Given the description of an element on the screen output the (x, y) to click on. 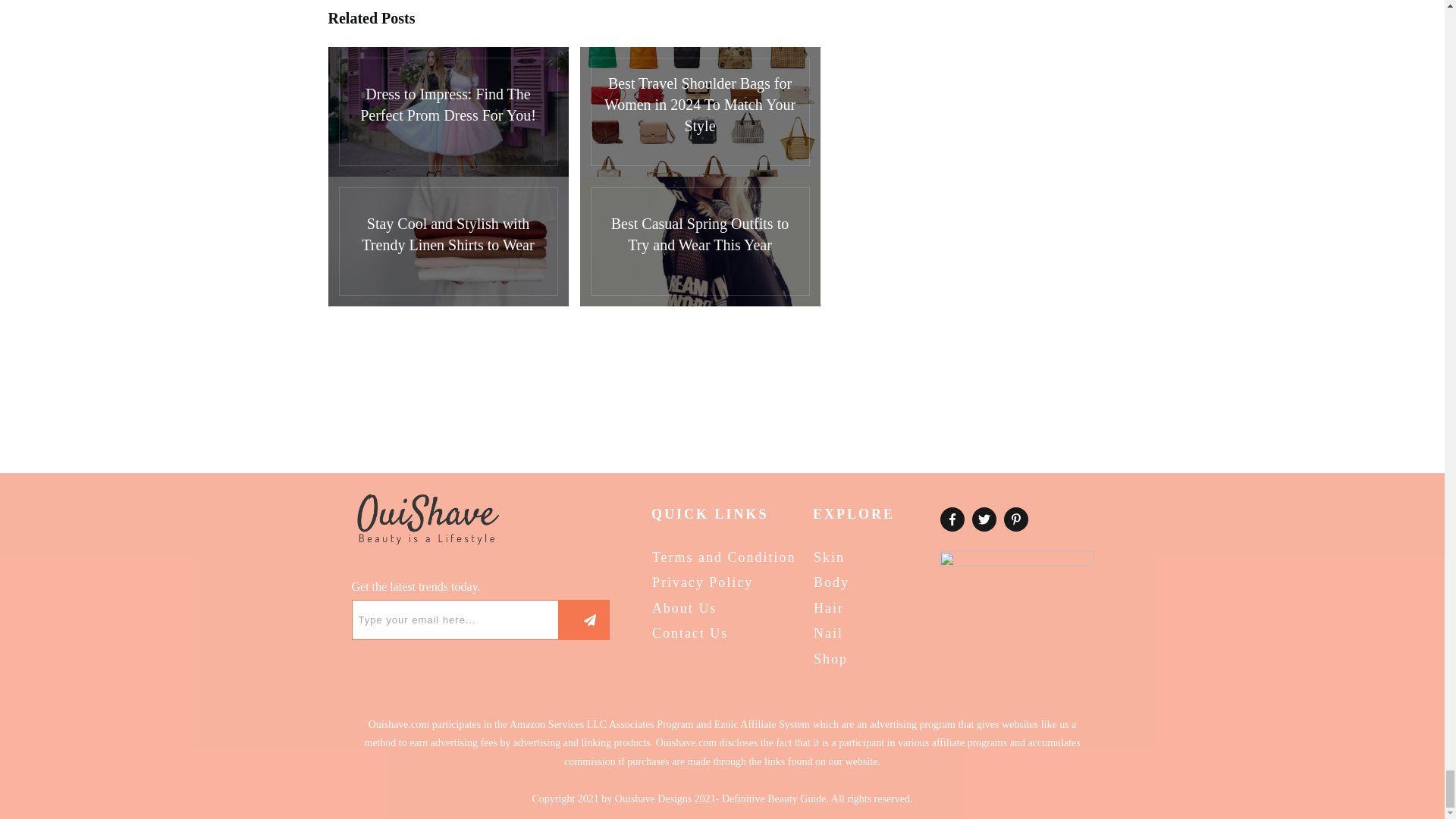
CloudstrikeVentures-png-1 (1016, 565)
